Given the description of an element on the screen output the (x, y) to click on. 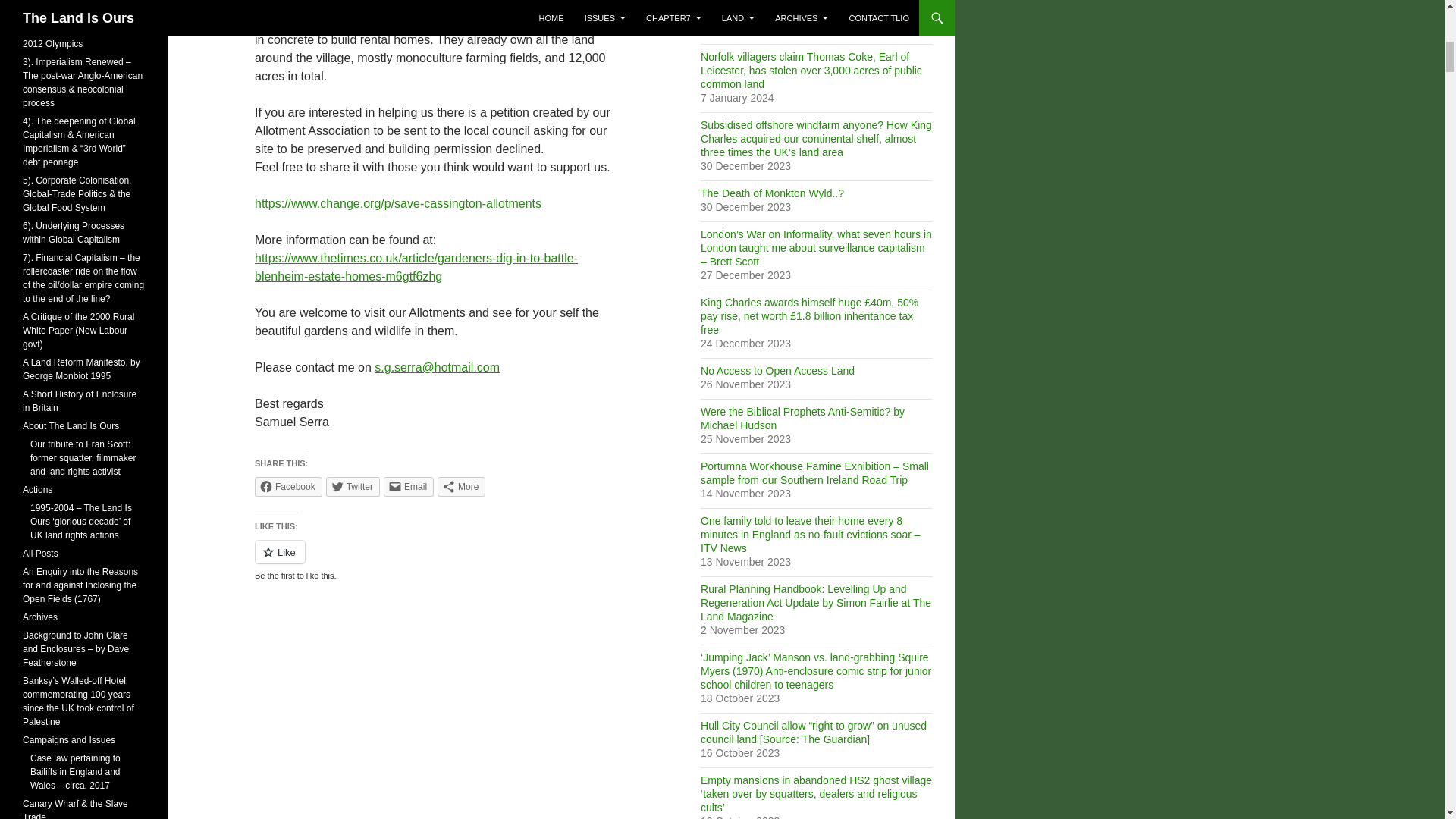
Click to email this to a friend (408, 486)
Click to share on Facebook (287, 486)
Click to share on Twitter (353, 486)
Like or Reblog (434, 560)
